Given the description of an element on the screen output the (x, y) to click on. 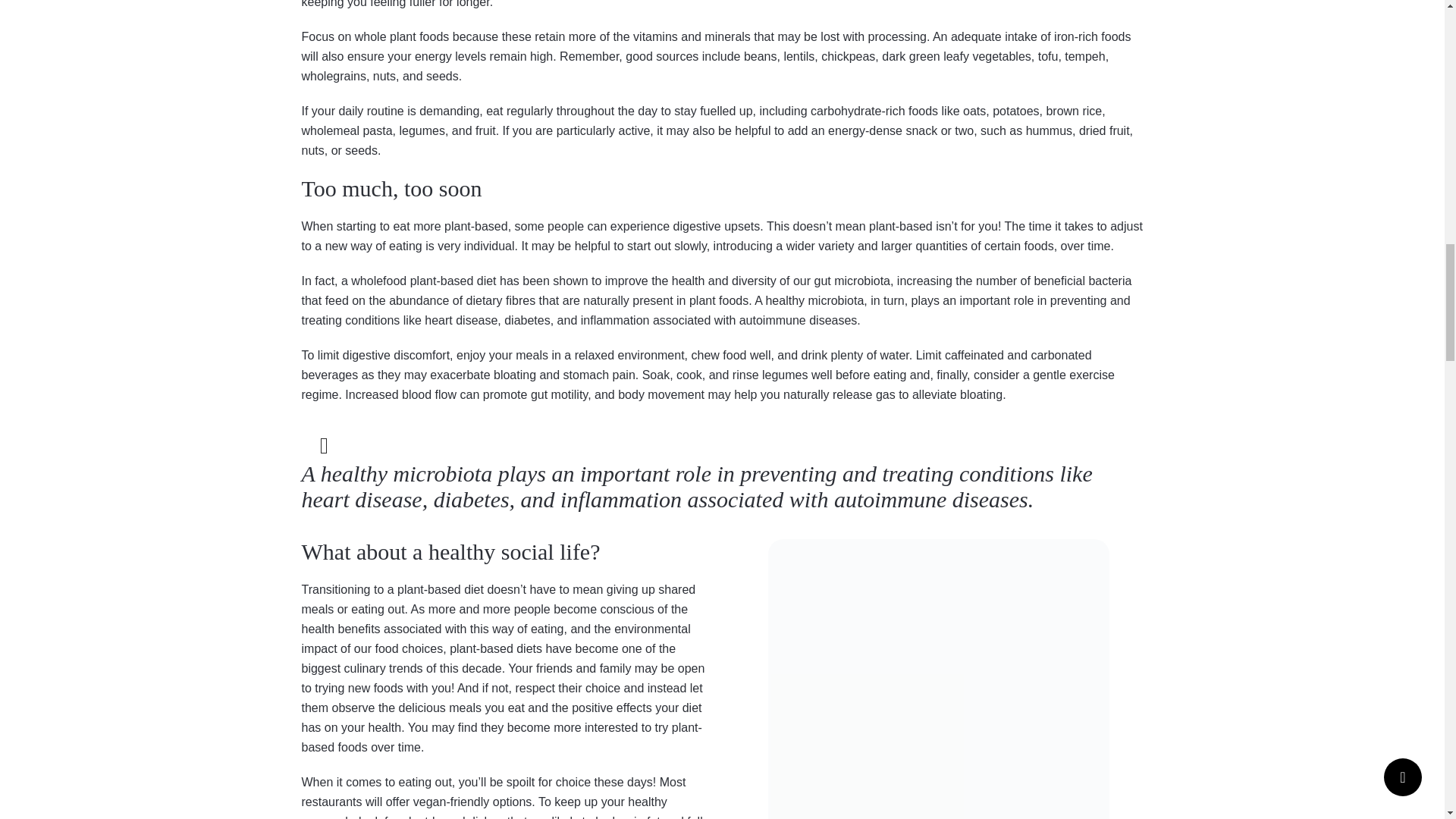
Eating out (937, 678)
